Given the description of an element on the screen output the (x, y) to click on. 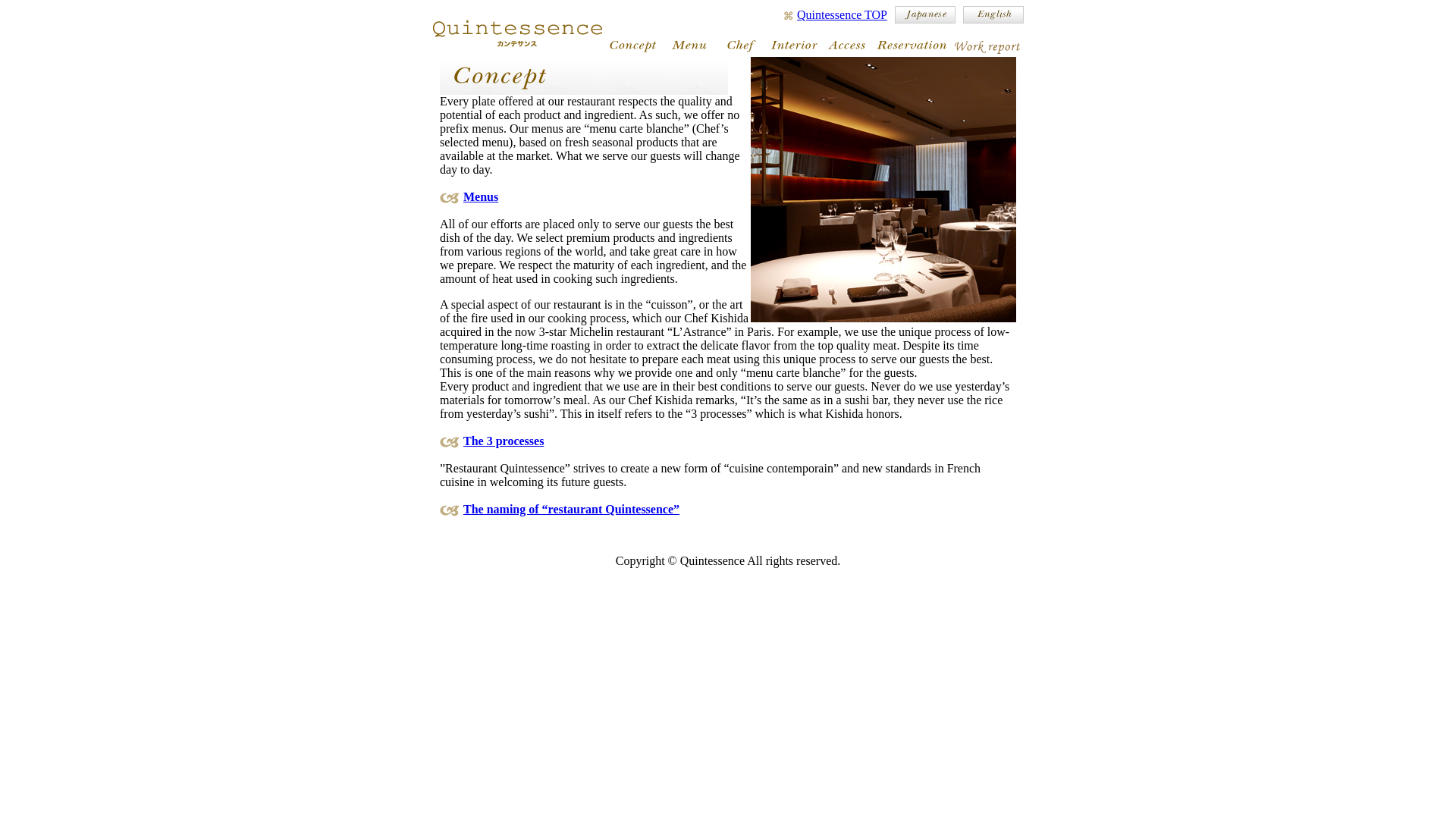
Menus (480, 196)
The 3 processes (503, 440)
Quintessence TOP (841, 13)
